Given the description of an element on the screen output the (x, y) to click on. 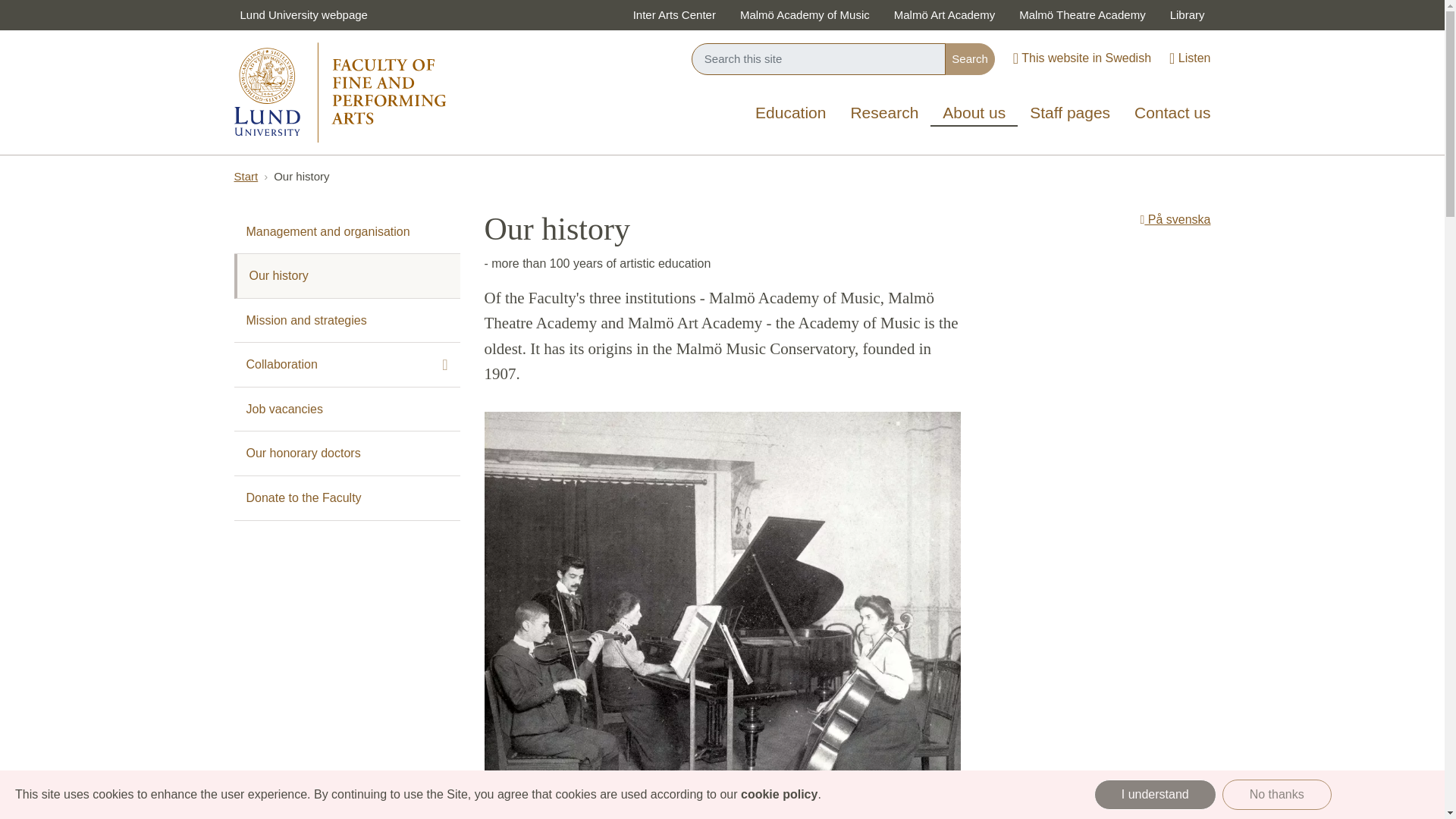
Education (790, 113)
Staff pages (1069, 113)
This website in Swedish (1082, 59)
About us (973, 110)
cookie policy (778, 793)
Search (969, 59)
Library (1187, 15)
Research (884, 113)
Listen (1189, 59)
I understand (1154, 794)
